Given the description of an element on the screen output the (x, y) to click on. 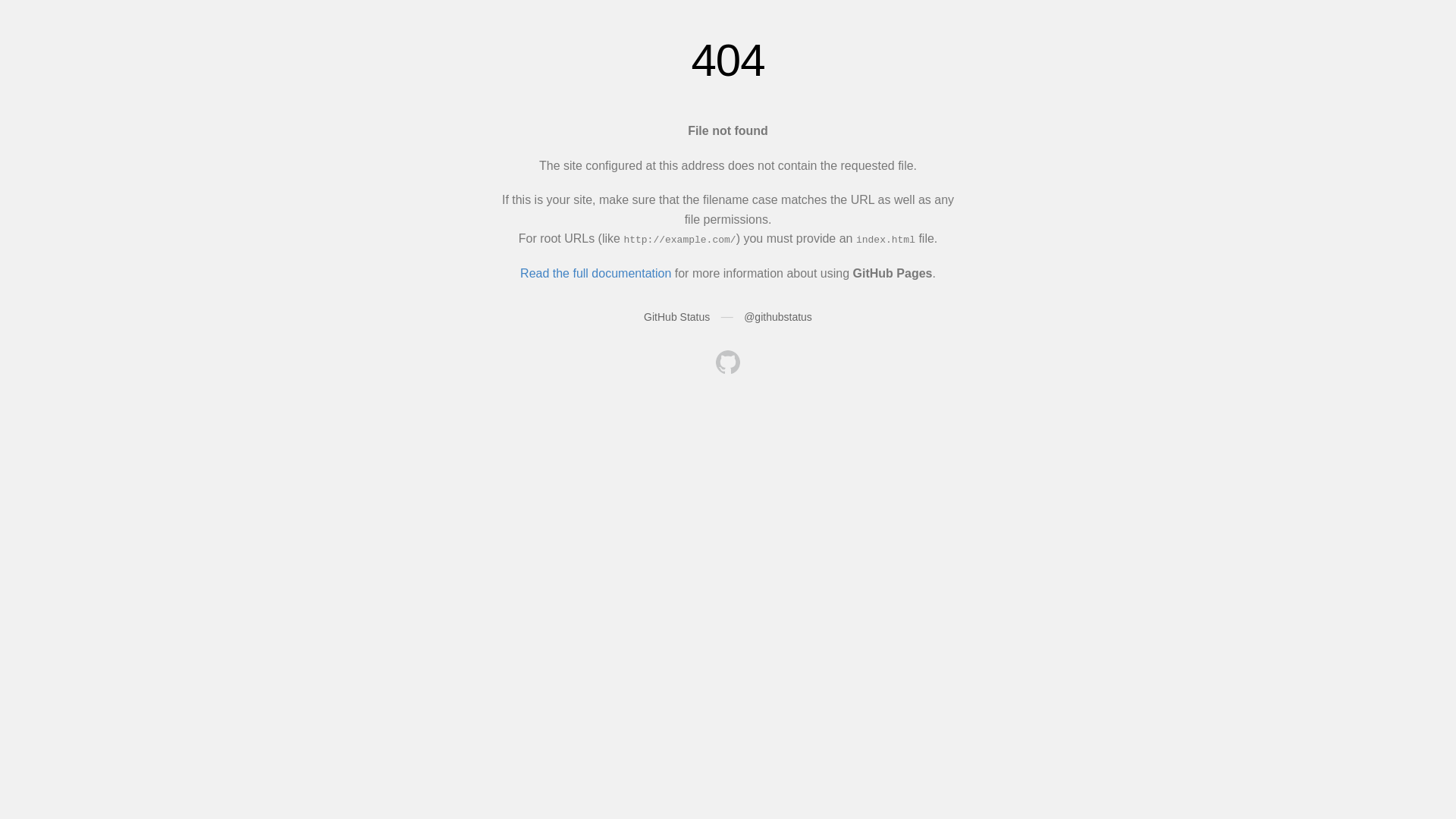
@githubstatus Element type: text (777, 316)
Read the full documentation Element type: text (595, 272)
GitHub Status Element type: text (676, 316)
